Given the description of an element on the screen output the (x, y) to click on. 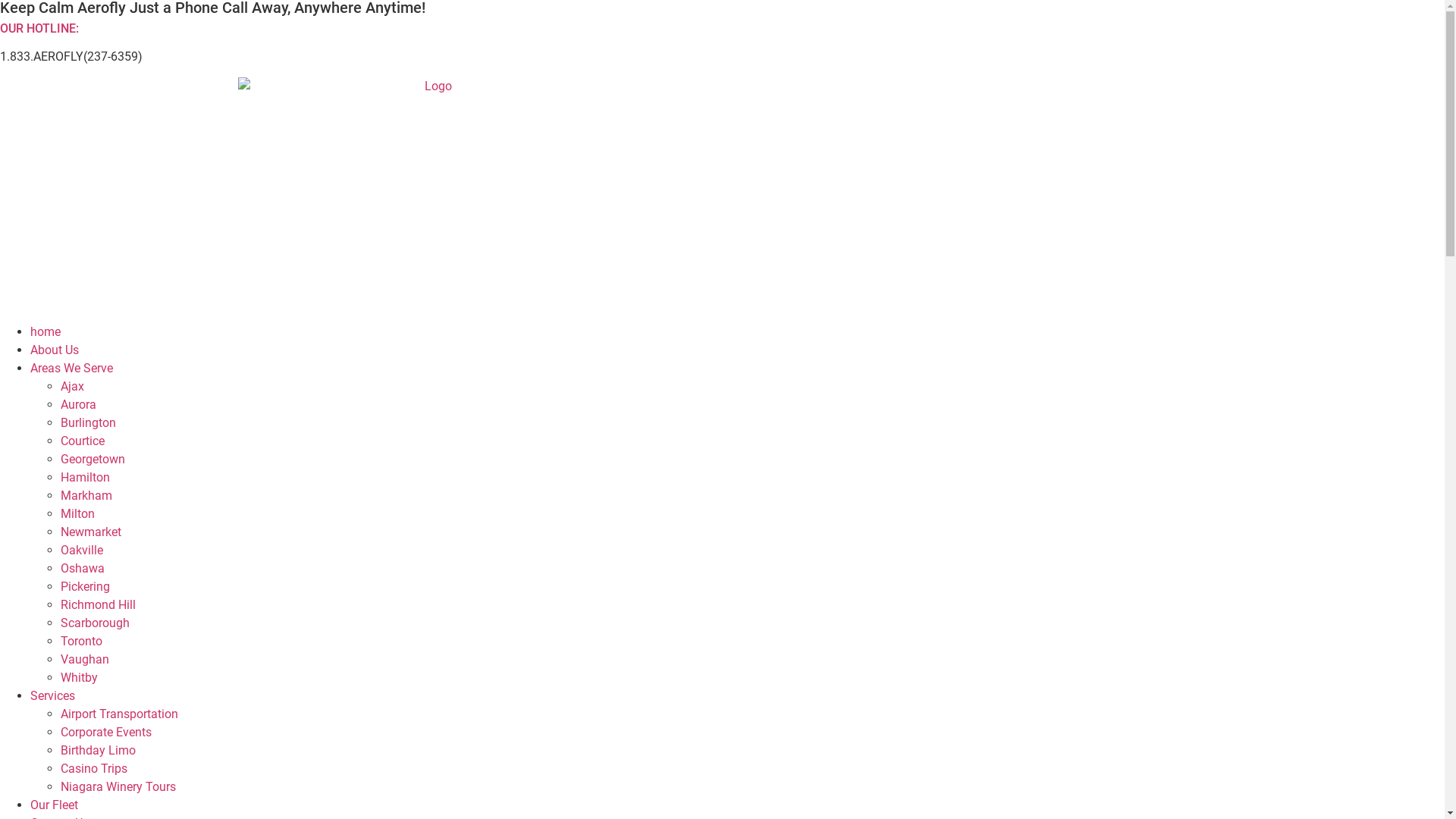
Casino Trips Element type: text (93, 768)
Oshawa Element type: text (82, 568)
home Element type: text (45, 331)
Scarborough Element type: text (94, 622)
Vaughan Element type: text (84, 659)
Oakville Element type: text (81, 549)
Aurora Element type: text (78, 404)
Our Fleet Element type: text (54, 804)
Pickering Element type: text (84, 586)
Airport Transportation Element type: text (119, 713)
Skip to content Element type: text (0, 0)
Richmond Hill Element type: text (97, 604)
Services Element type: text (52, 695)
Milton Element type: text (77, 513)
Niagara Winery Tours Element type: text (117, 786)
Areas We Serve Element type: text (71, 367)
Hamilton Element type: text (84, 477)
Ajax Element type: text (72, 386)
Toronto Element type: text (81, 640)
Burlington Element type: text (88, 422)
Whitby Element type: text (78, 677)
Georgetown Element type: text (92, 458)
Birthday Limo Element type: text (97, 750)
Newmarket Element type: text (90, 531)
OUR HOTLINE: Element type: text (39, 28)
Markham Element type: text (86, 495)
Corporate Events Element type: text (105, 731)
Courtice Element type: text (82, 440)
About Us Element type: text (54, 349)
